Given the description of an element on the screen output the (x, y) to click on. 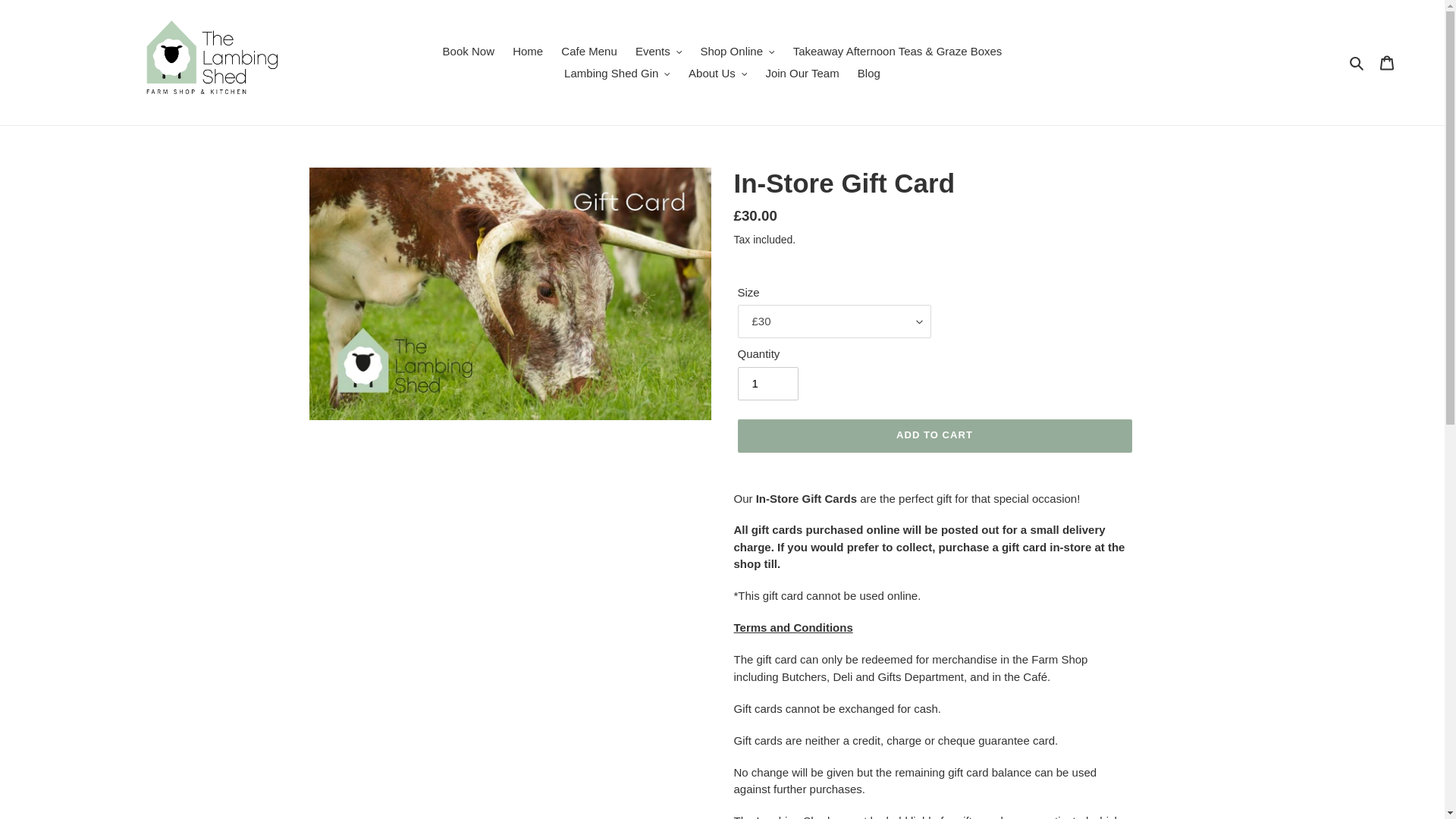
Join Our Team (801, 73)
Lambing Shed Gin (617, 73)
About Us (717, 73)
Book Now (468, 51)
Blog (869, 73)
Home (527, 51)
Shop Online (737, 51)
1 (766, 383)
Cafe Menu (588, 51)
Events (657, 51)
